Given the description of an element on the screen output the (x, y) to click on. 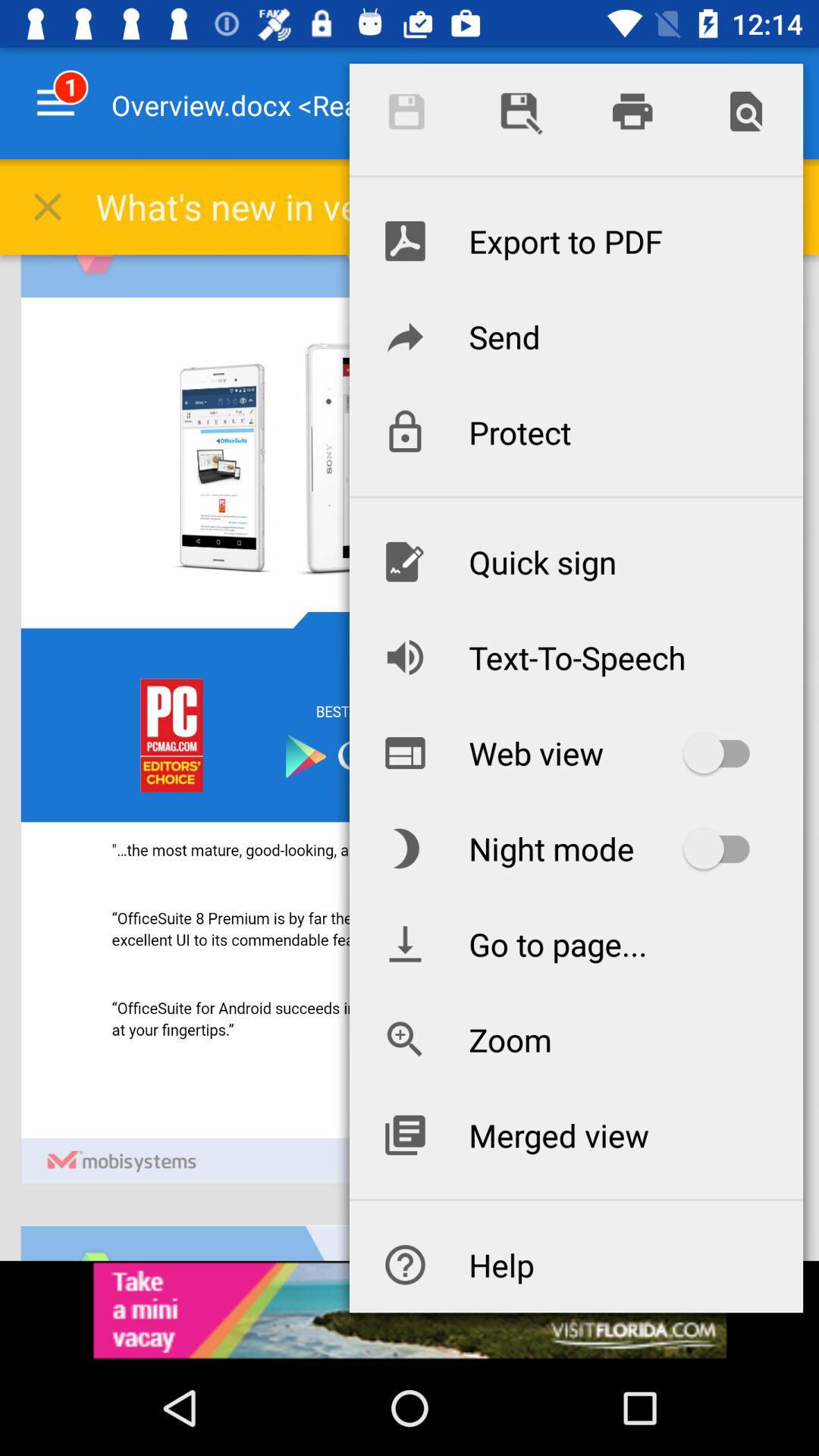
swipe until merged view (576, 1135)
